Given the description of an element on the screen output the (x, y) to click on. 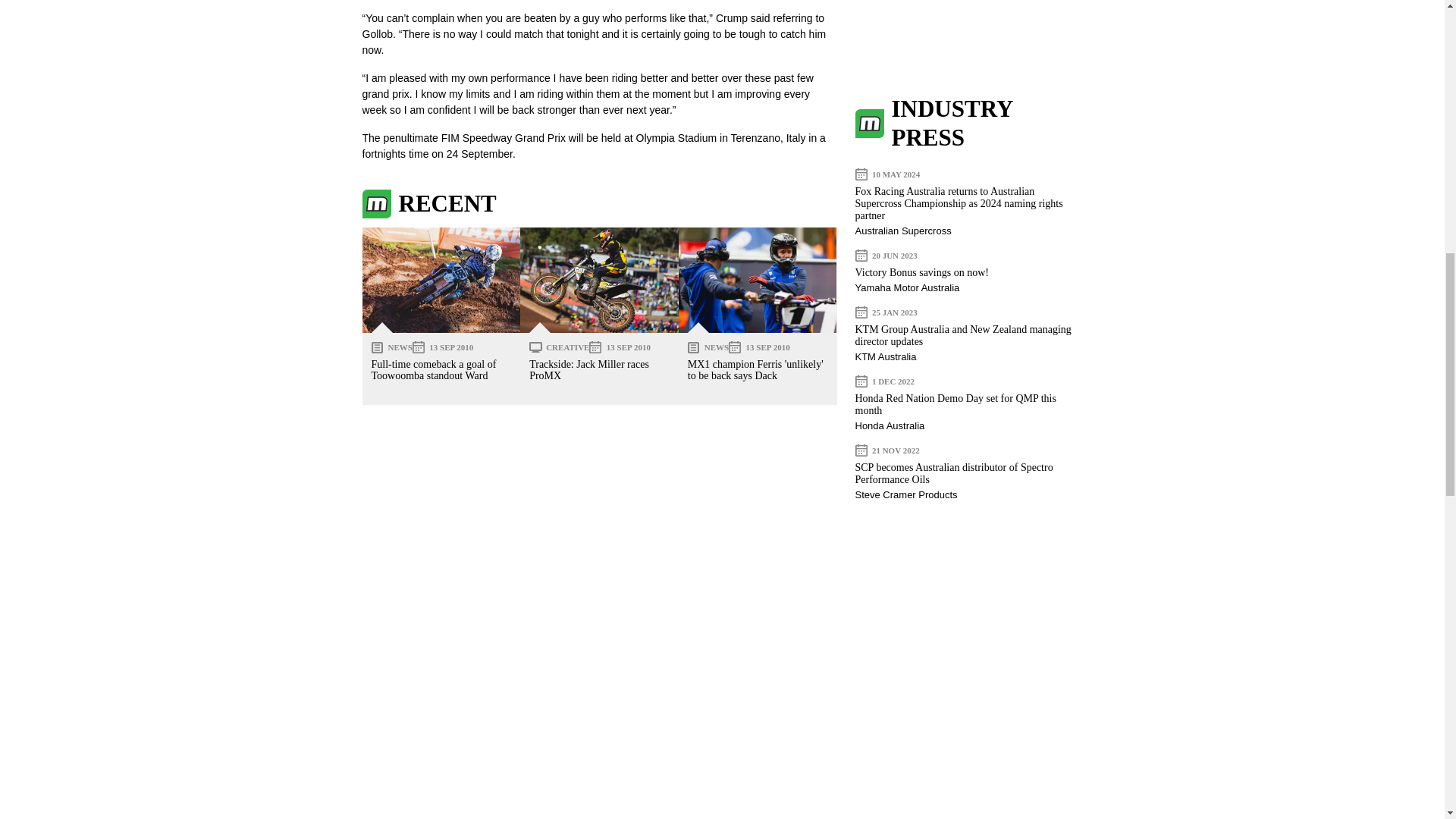
Trackside: Jack Miller races ProMX (589, 369)
Full-time comeback a goal of Toowoomba standout Ward (433, 369)
Full-time comeback a goal of Toowoomba standout Ward (441, 279)
Trackside: Jack Miller races ProMX (598, 279)
MX1 champion Ferris 'unlikely' to be back says Dack (757, 279)
